Given the description of an element on the screen output the (x, y) to click on. 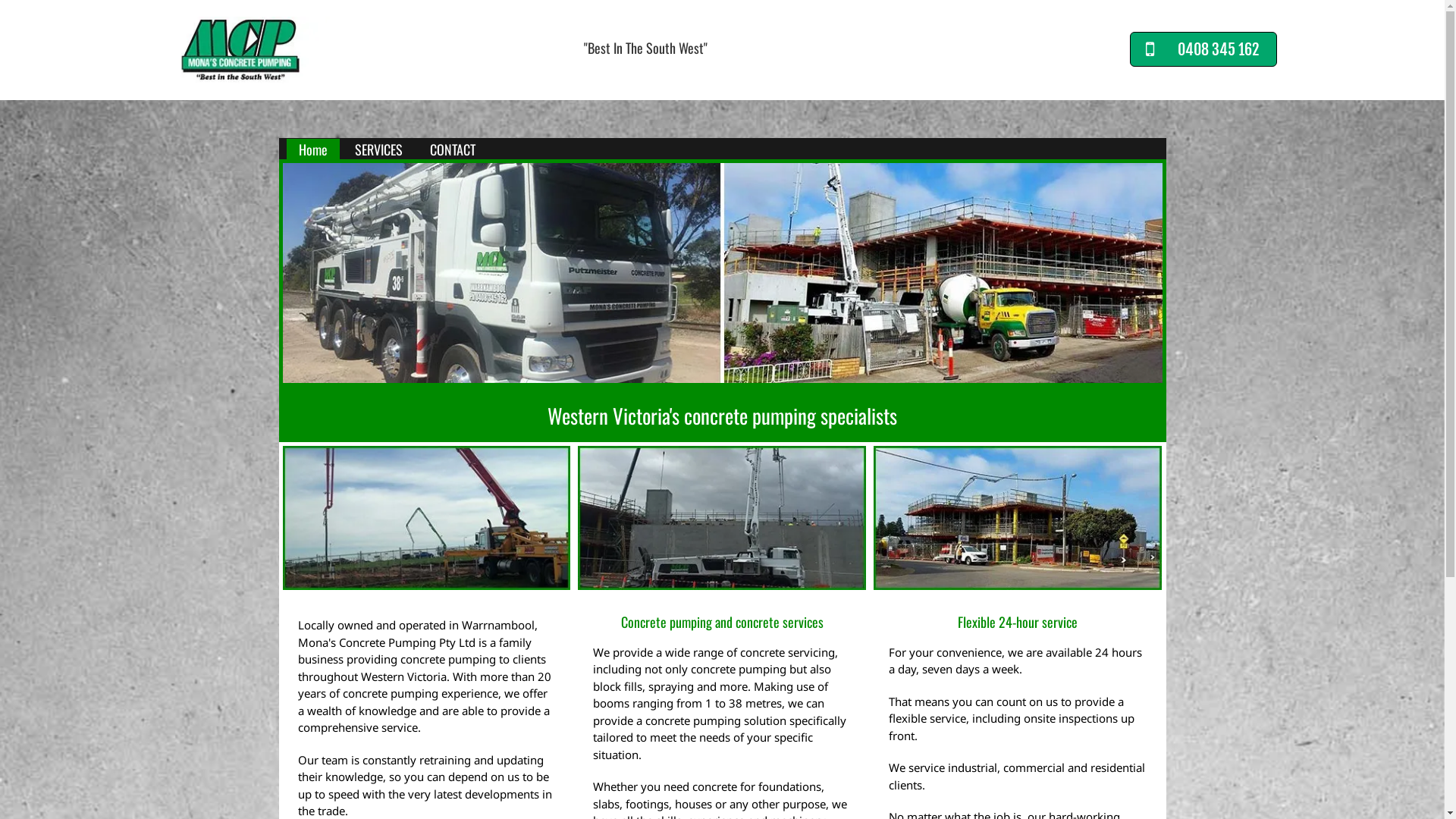
SERVICES Element type: text (378, 149)
monas concrete pumping white truck pouring concrete Element type: hover (721, 517)
monas concrete pumping pouring concrete in a construction Element type: hover (1017, 517)
Home Element type: text (312, 149)
monas concrete pumping yellow truck pouring concrete Element type: hover (426, 517)
monas concrete pumping business logo Element type: hover (240, 49)
0408 345 162 Element type: text (1203, 48)
CONTACT Element type: text (451, 149)
